Given the description of an element on the screen output the (x, y) to click on. 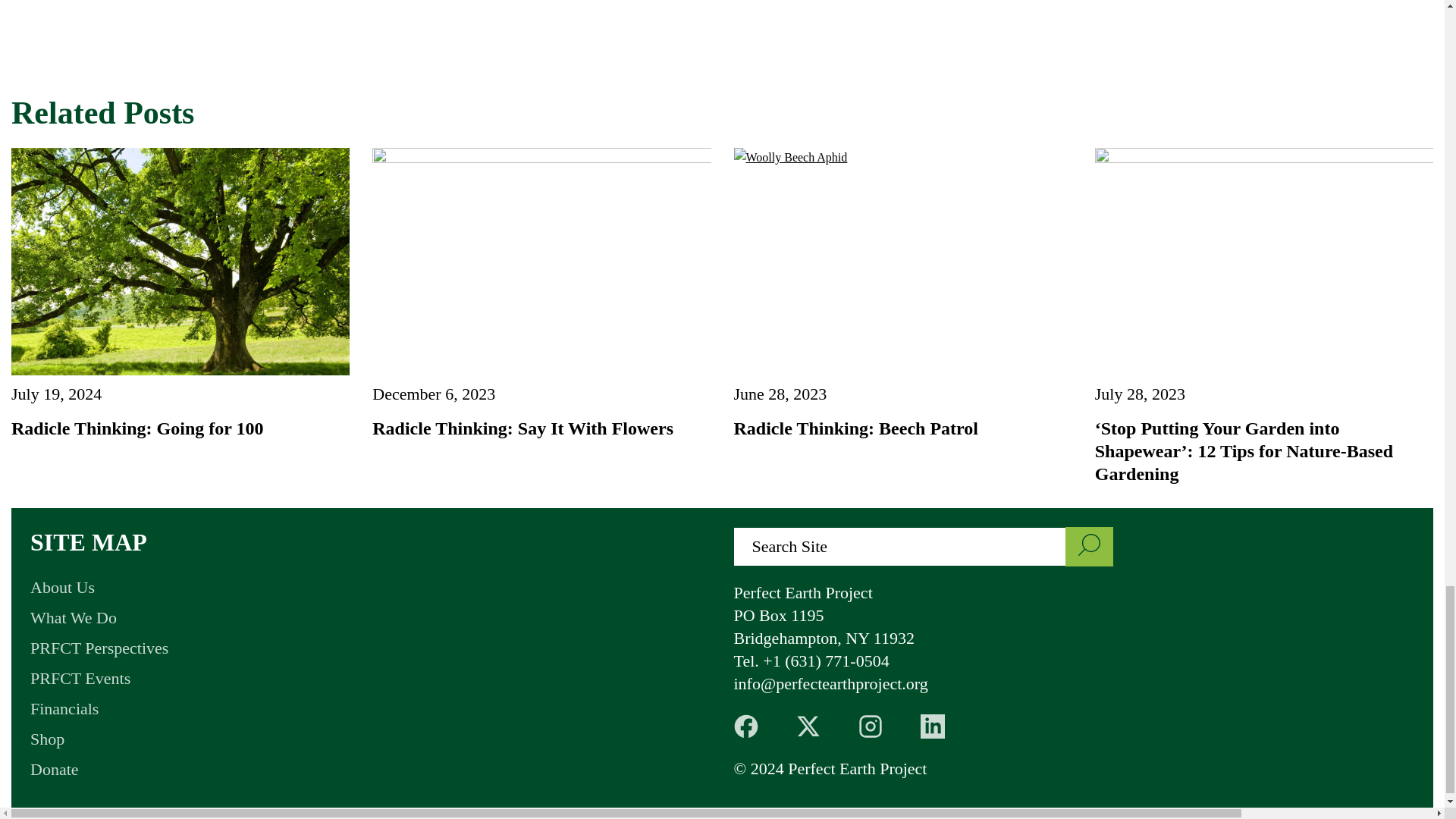
Radicle Thinking: Beech Patrol (902, 261)
Radicle Thinking: Beech Patrol (855, 428)
Radicle Thinking: Say It With Flowers (541, 261)
Radicle Thinking: Going for 100 (137, 428)
Radicle Thinking: Going for 100 (180, 261)
Radicle Thinking: Say It With Flowers (522, 428)
